Given the description of an element on the screen output the (x, y) to click on. 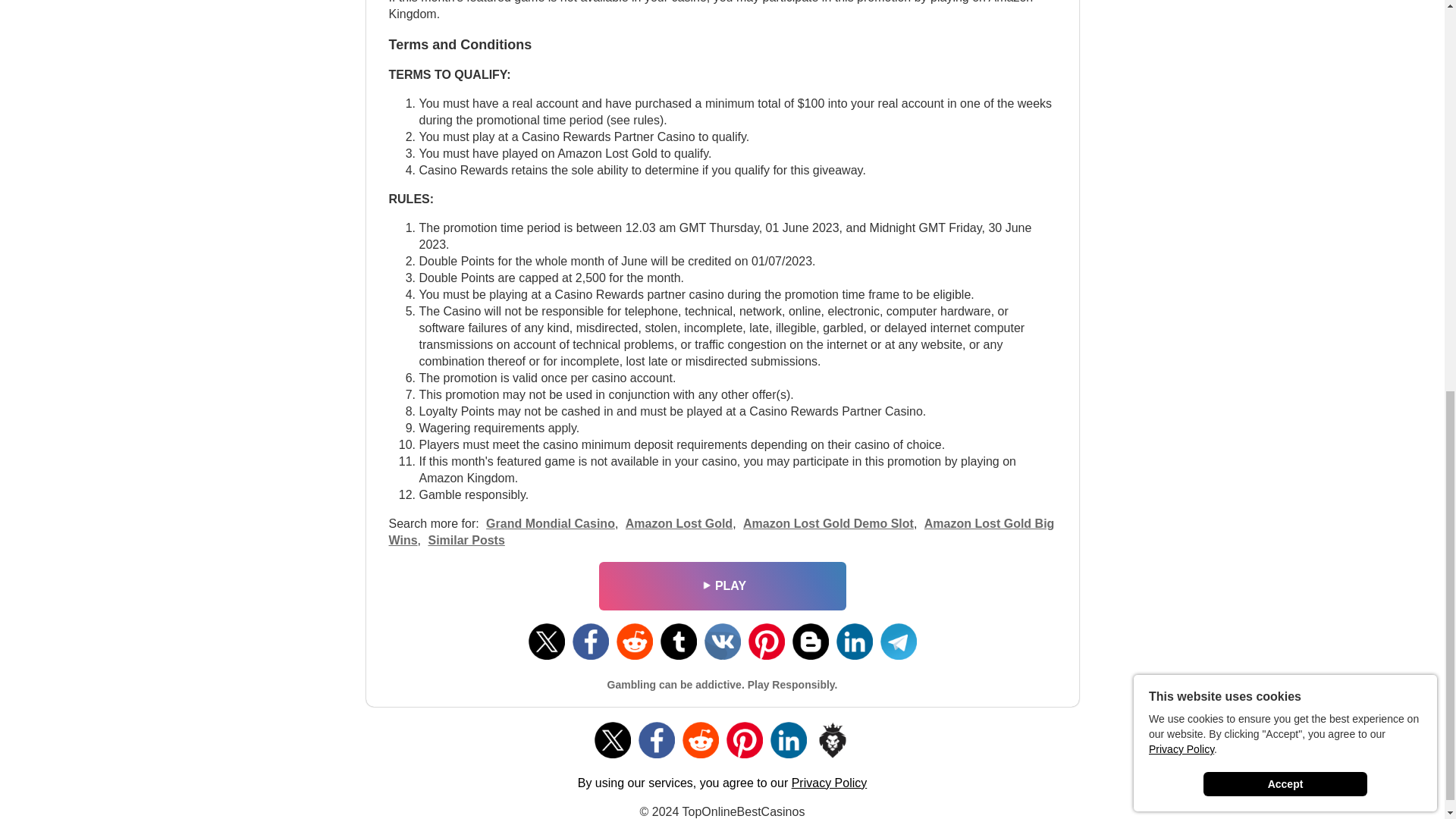
Gambling can be addictive. Play Responsibly. (722, 684)
Search for Grand Mondial Casino (550, 522)
Share on Facebook (590, 641)
 Share on Reddit (633, 641)
Share on Pinterest (766, 641)
Share on Vkontakte (721, 641)
Play Amazon Lost Gold for Free in Demo Slot (828, 522)
Grand Mondial Casino (550, 522)
Amazon Lost Gold Demo Slot (828, 522)
Share on Tumblr (677, 641)
 Share on Twitter (545, 641)
Privacy Policy (829, 782)
PLAY (721, 586)
Amazon Lost Gold (679, 522)
Share on Blogger (810, 641)
